Given the description of an element on the screen output the (x, y) to click on. 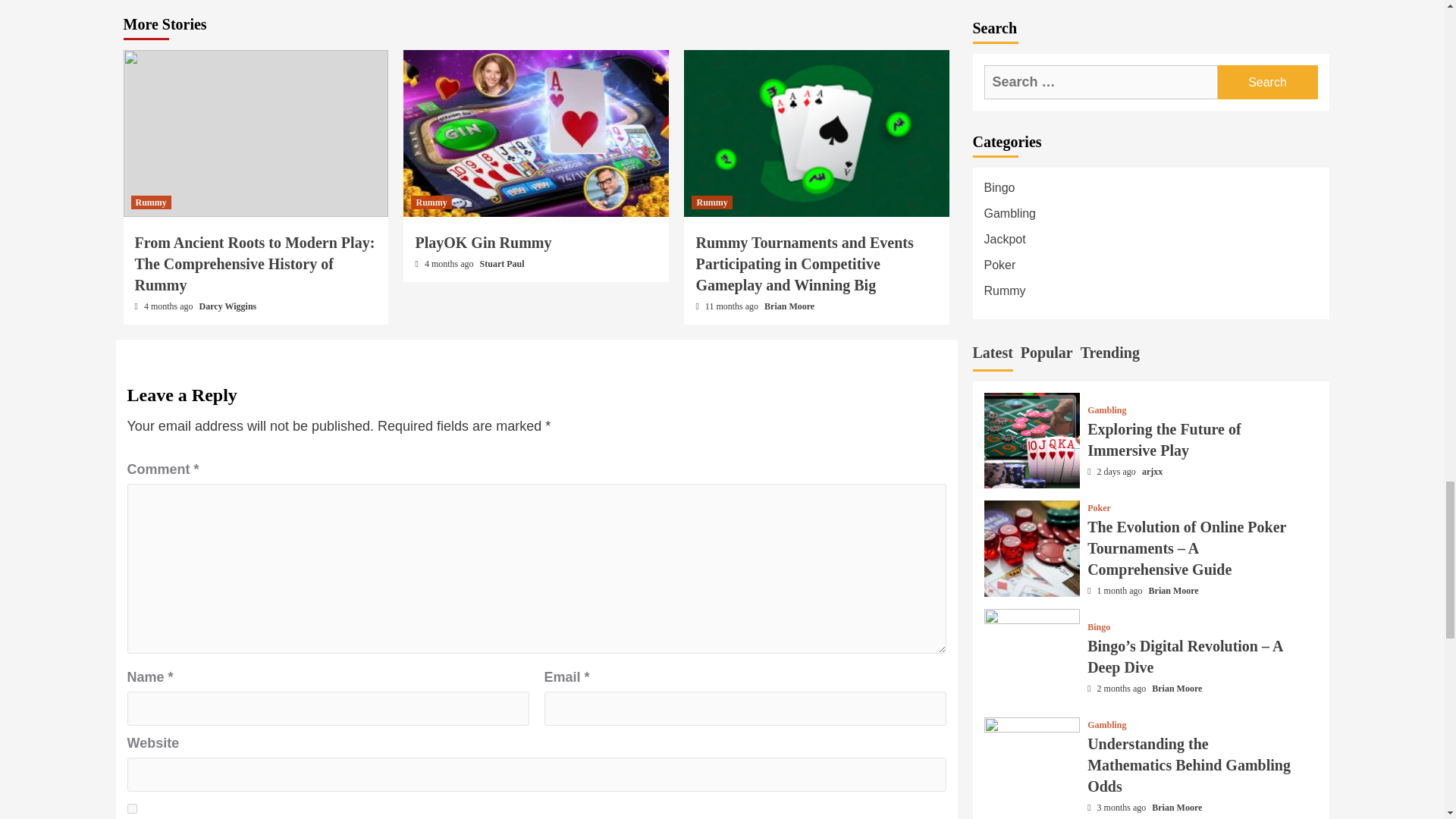
Darcy Wiggins (228, 306)
Rummy (150, 202)
yes (132, 808)
Rummy (711, 202)
PlayOK Gin Rummy (482, 242)
Brian Moore (788, 306)
Rummy (430, 202)
Stuart Paul (502, 263)
